Given the description of an element on the screen output the (x, y) to click on. 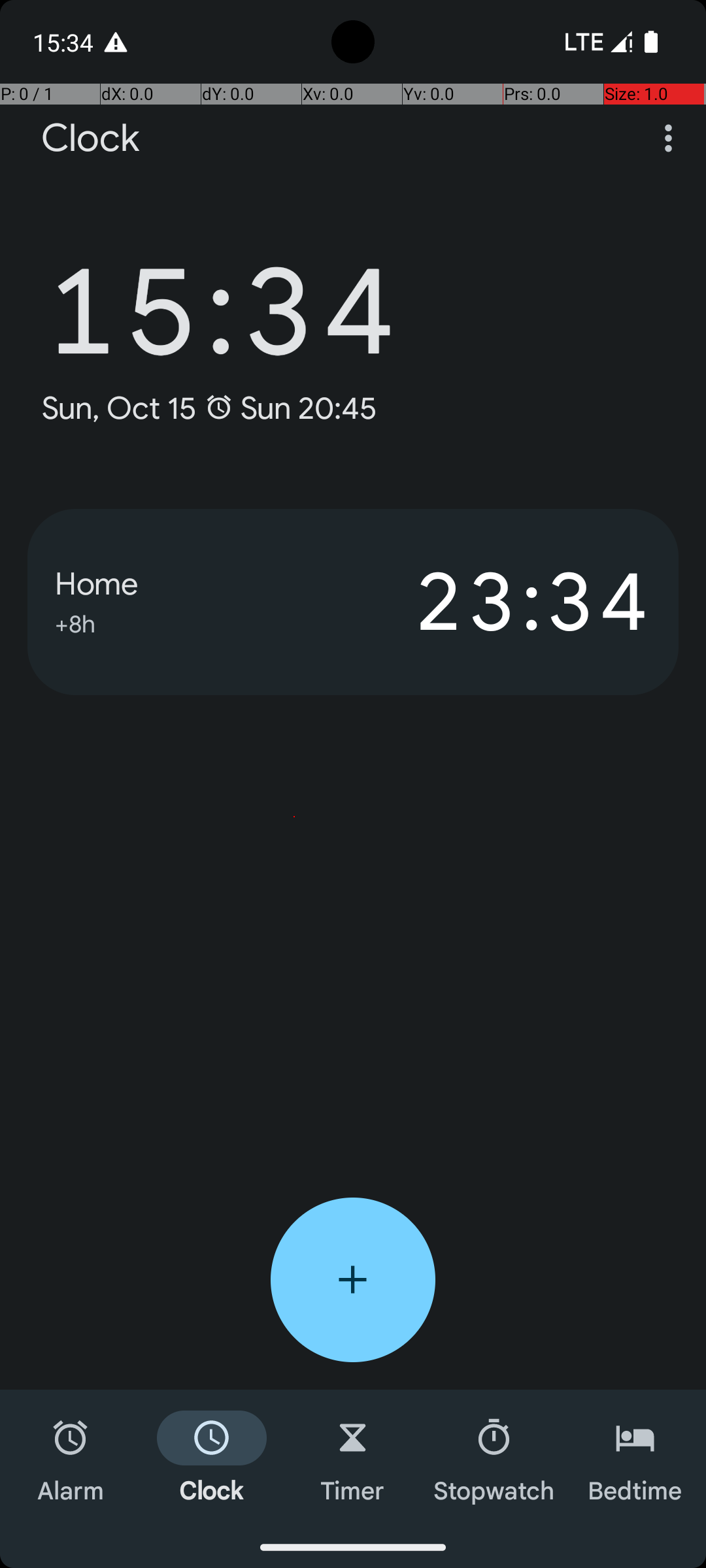
Add city Element type: android.widget.Button (352, 1279)
Sun, Oct 15 A Sun 20:45 Element type: android.widget.TextView (208, 407)
+8h Element type: android.widget.TextView (74, 621)
23:34 Element type: android.widget.TextView (502, 601)
